Given the description of an element on the screen output the (x, y) to click on. 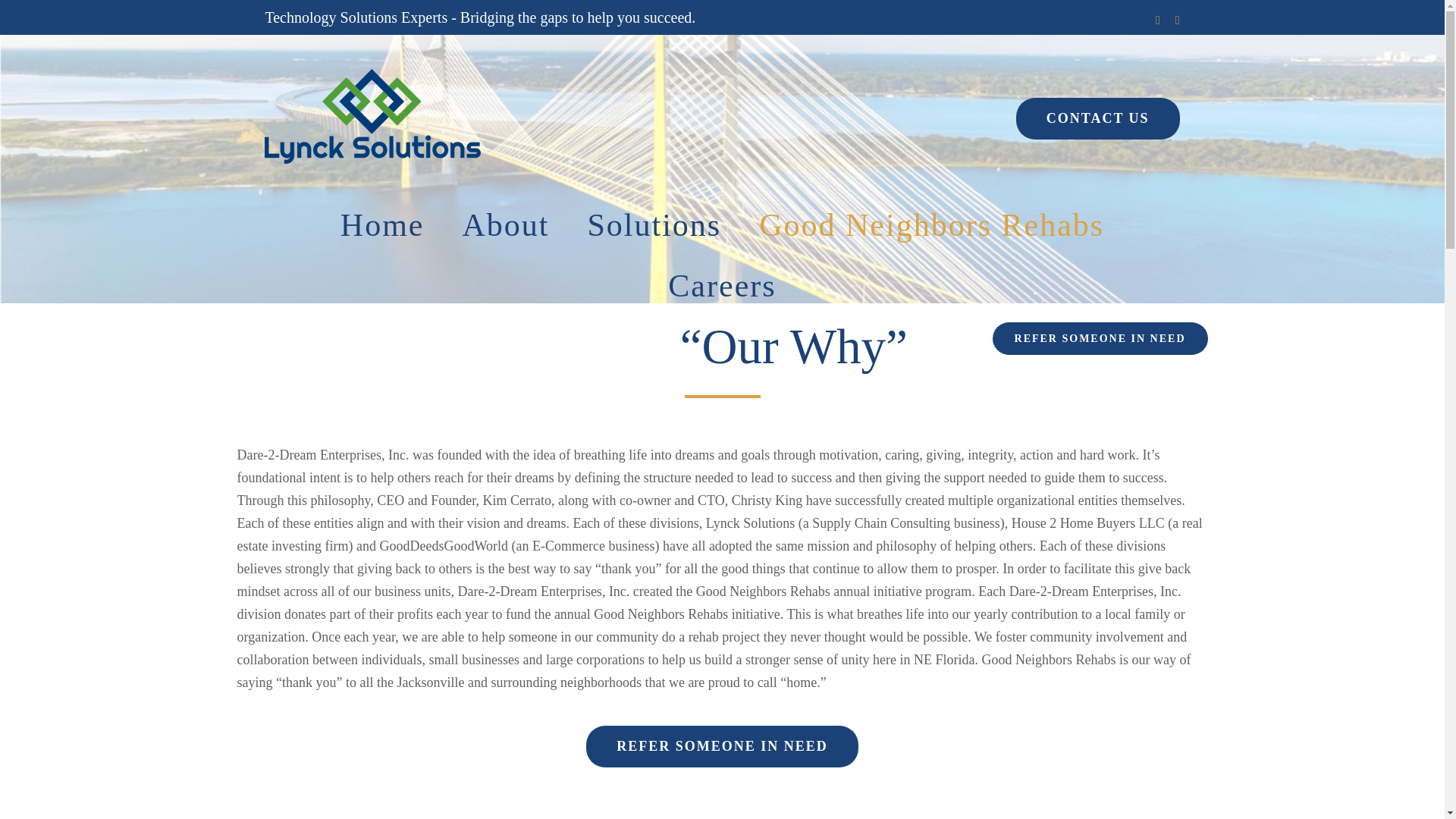
Solutions (653, 224)
REFER SOMEONE IN NEED (1100, 338)
REFER SOMEONE IN NEED (722, 746)
Careers (721, 285)
About (504, 224)
CONTACT US (1097, 118)
Good Neighbors Rehabs (930, 224)
Home (382, 224)
